Given the description of an element on the screen output the (x, y) to click on. 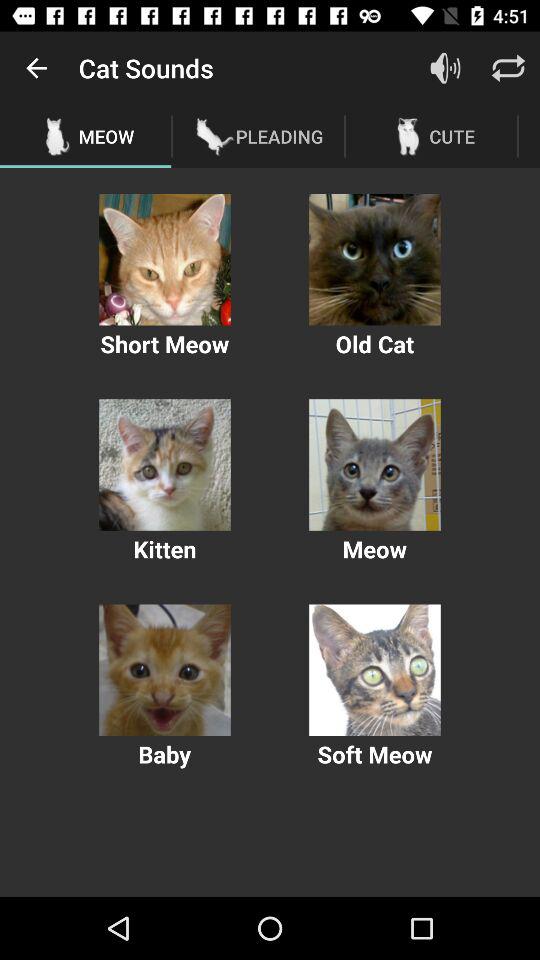
turn on the item above cute (508, 67)
